Given the description of an element on the screen output the (x, y) to click on. 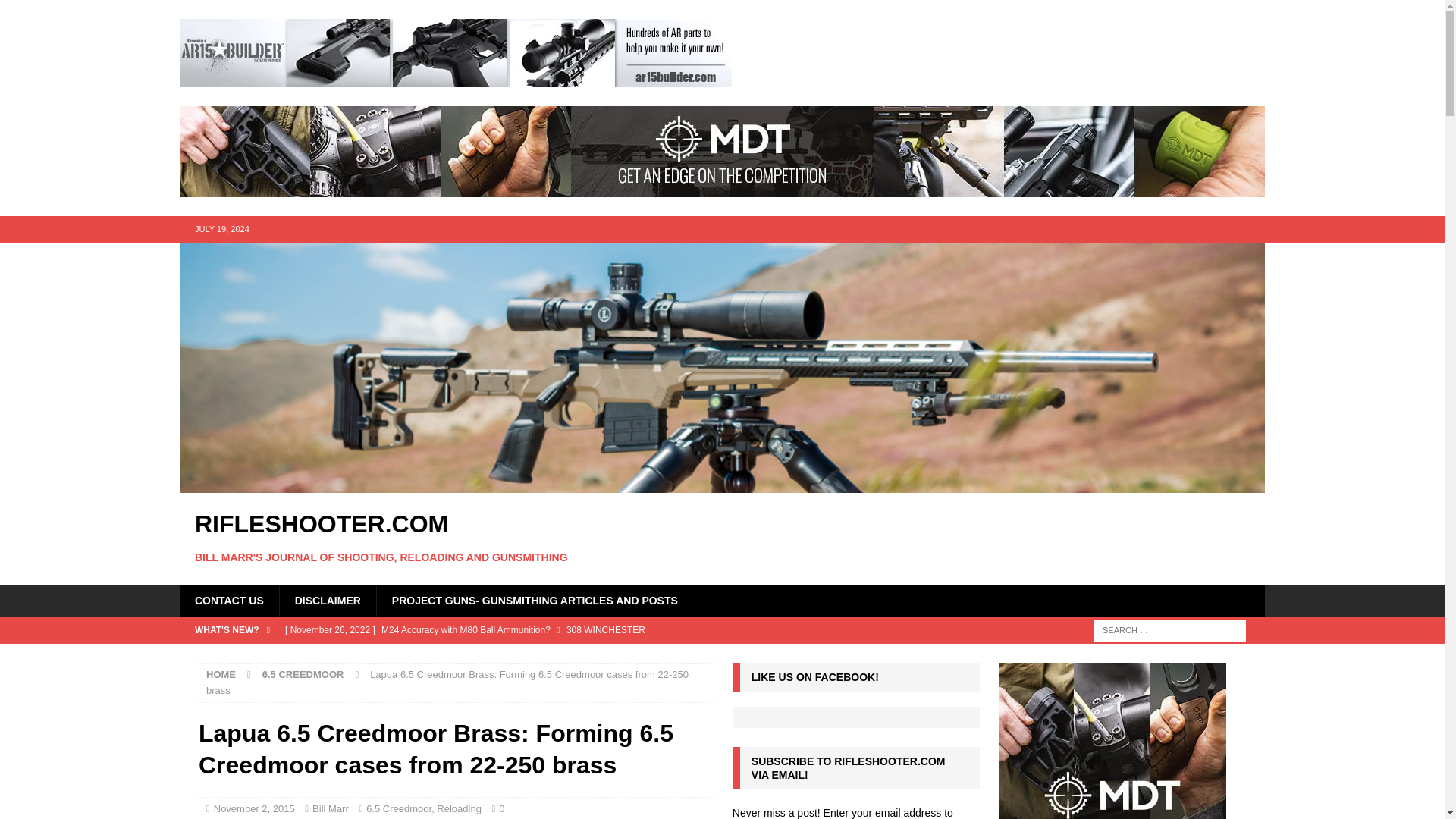
PROJECT GUNS- GUNSMITHING ARTICLES AND POSTS (534, 600)
6.5 CREEDMOOR (302, 674)
6.5 Creedmoor (398, 808)
CONTACT US (229, 600)
The A-Team Mini-14? Customizing a Ruger Mini-14 (582, 655)
Bill Marr (331, 808)
HOME (220, 674)
Reloading (458, 808)
DISCLAIMER (327, 600)
M24 Accuracy with M80 Ball Ammunition? (582, 629)
rifleshooter.com (722, 537)
Search (56, 11)
rifleshooter.com (722, 484)
November 2, 2015 (254, 808)
